Given the description of an element on the screen output the (x, y) to click on. 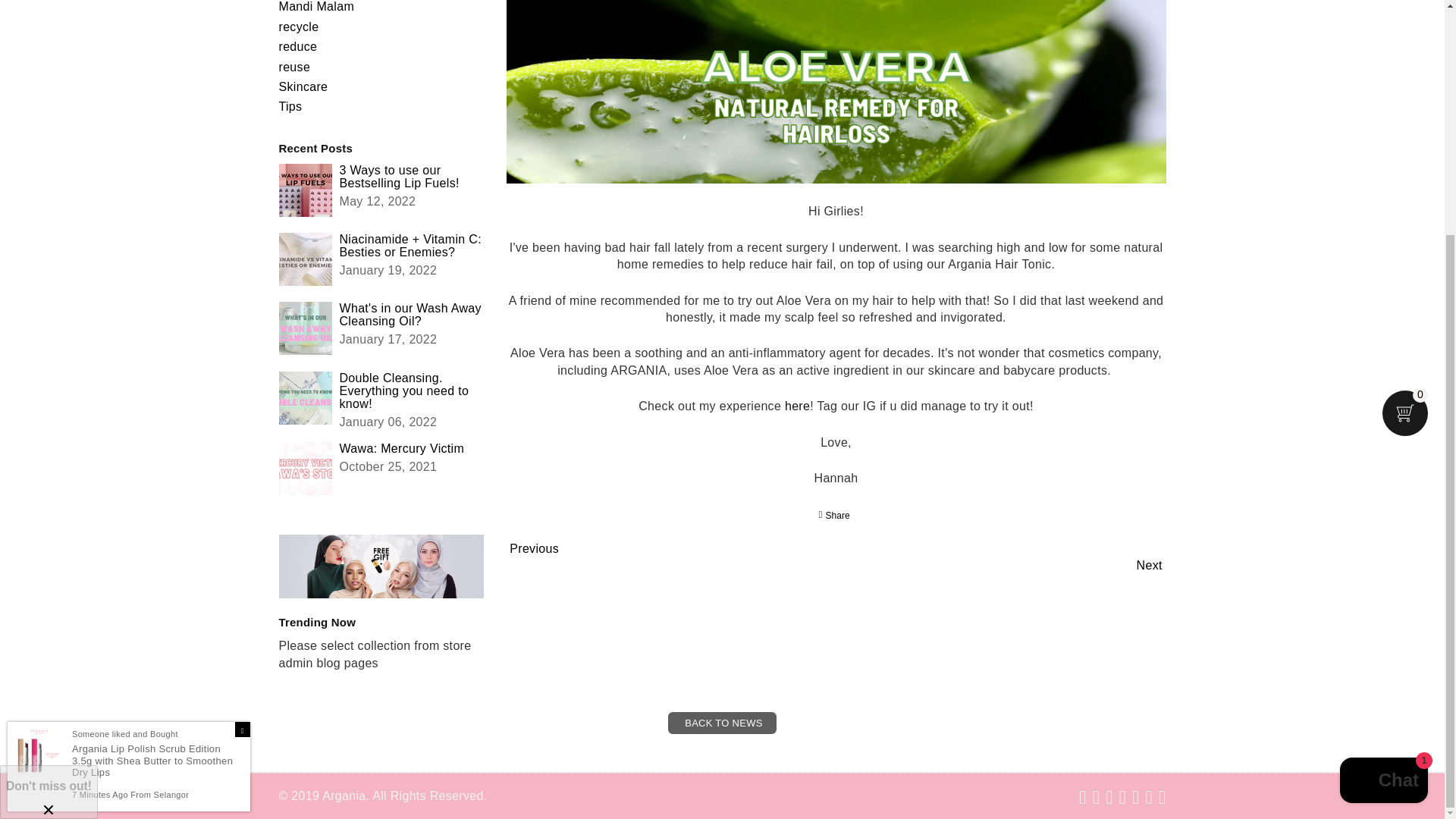
Share on Facebook (833, 515)
Next (1149, 564)
Previous (534, 548)
Show articles tagged Mandi Malam (317, 6)
Show articles tagged recycle (298, 26)
Aloe Vera as Natural Home Remedy for Hairloss (796, 406)
Share (833, 515)
here (796, 406)
